Given the description of an element on the screen output the (x, y) to click on. 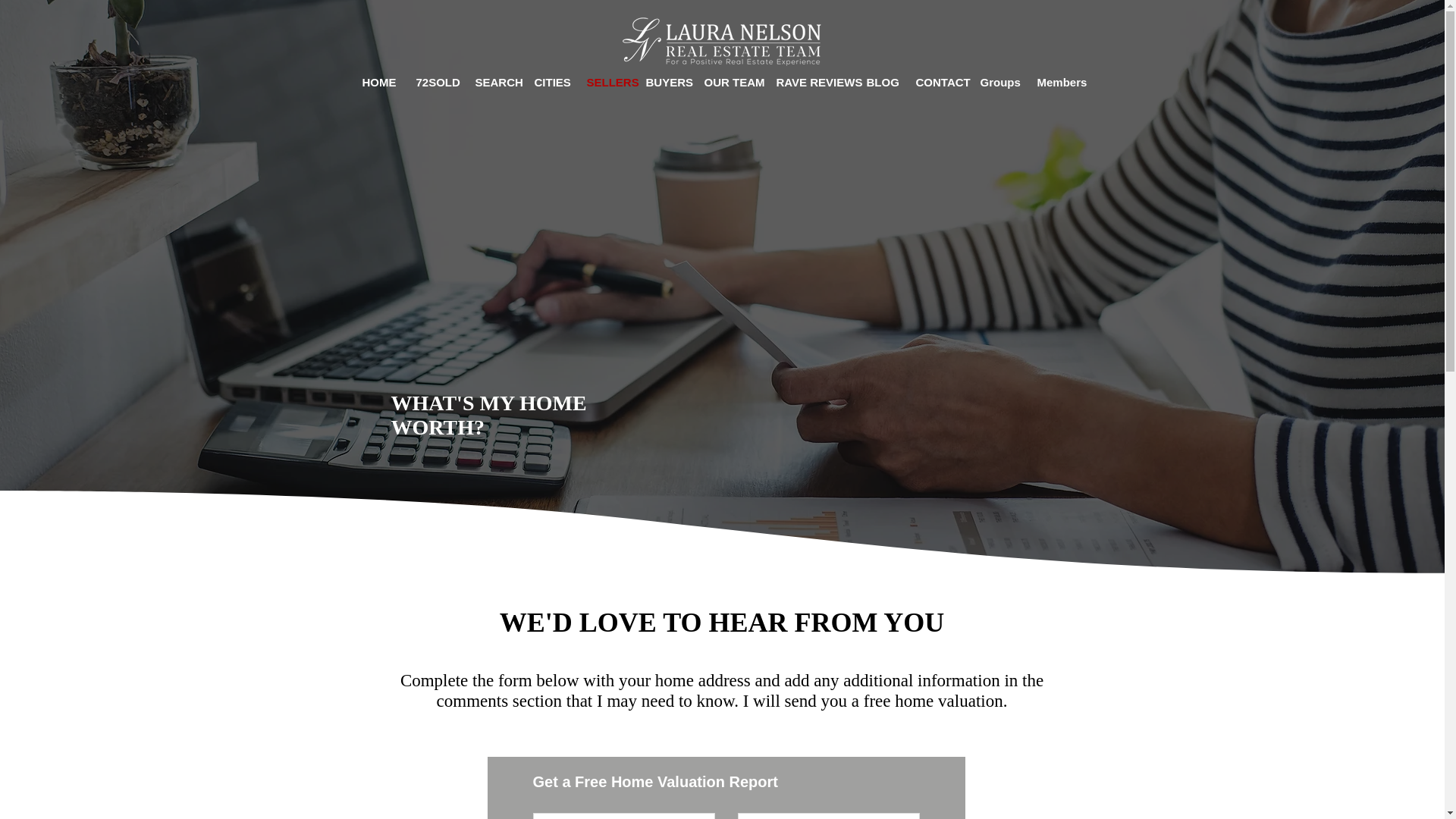
RAVE REVIEWS (809, 82)
OUR TEAM (729, 82)
CITIES (548, 82)
CONTACT (936, 82)
BUYERS (663, 82)
SEARCH (493, 82)
Groups (997, 82)
LAURA NELSON LOGO WHITE T.png (721, 39)
BLOG (880, 82)
HOME (377, 82)
72SOLD (434, 82)
Members (1059, 82)
SELLERS (604, 82)
